Given the description of an element on the screen output the (x, y) to click on. 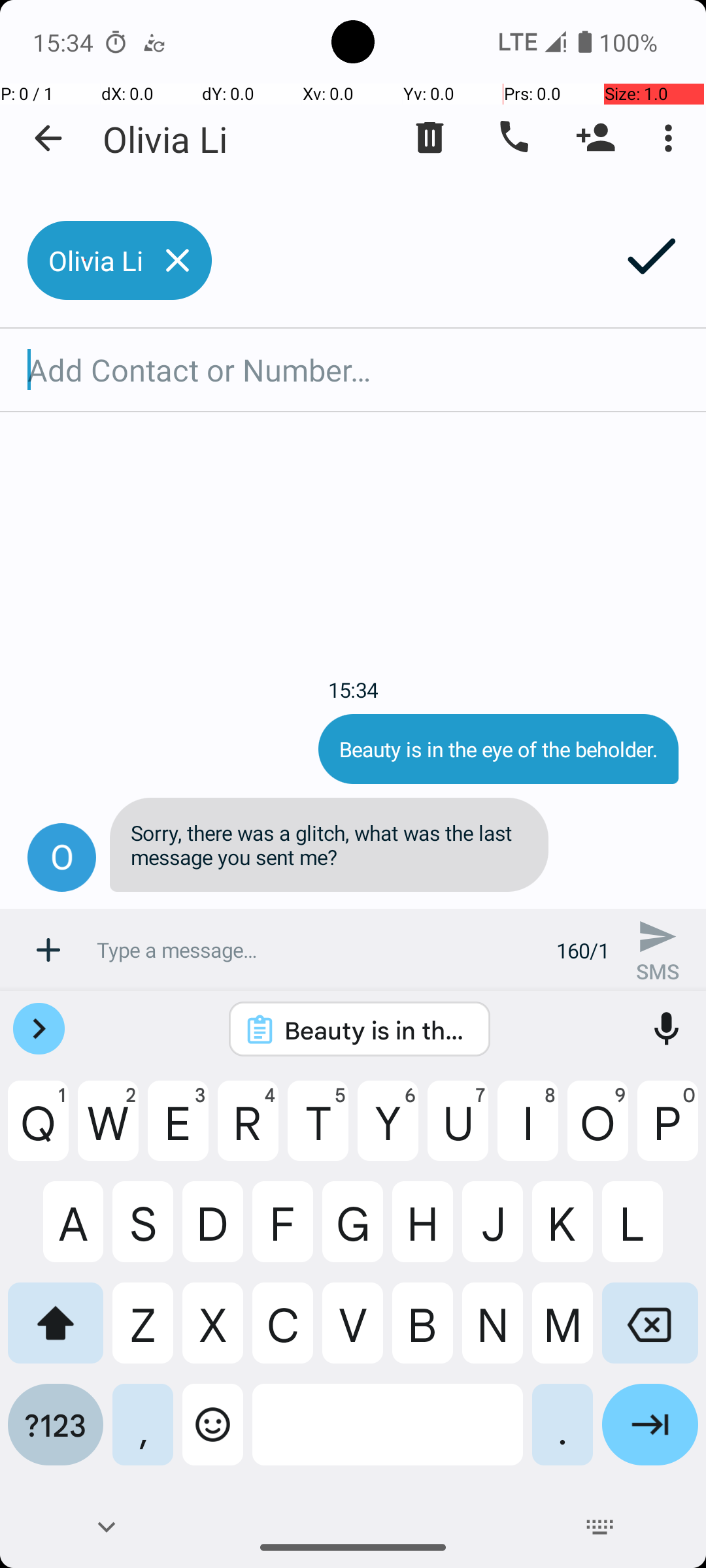
Olivia Li Element type: android.widget.TextView (164, 138)
